Given the description of an element on the screen output the (x, y) to click on. 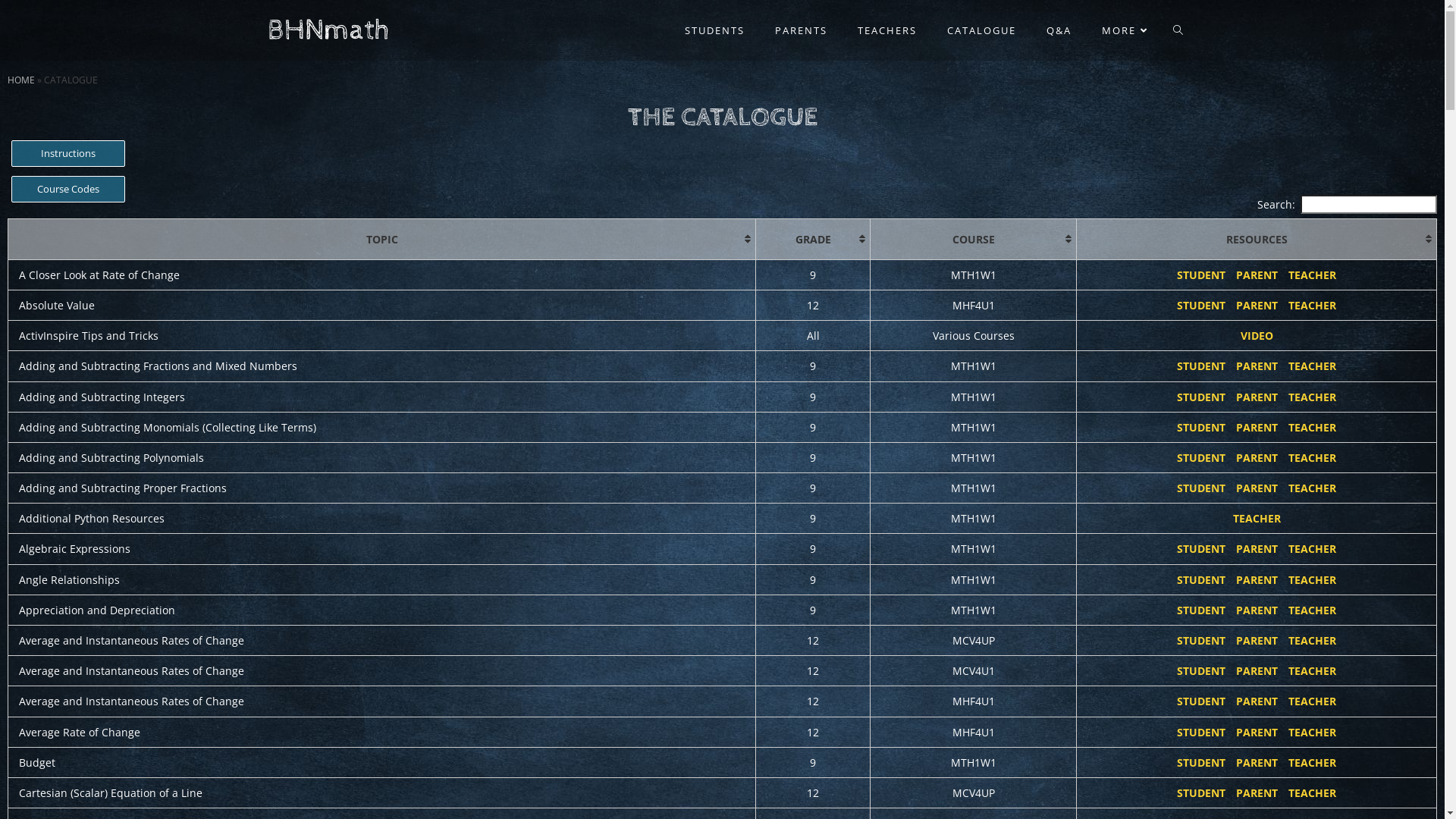
TEACHER Element type: text (1312, 396)
TEACHER Element type: text (1312, 792)
STUDENT Element type: text (1200, 640)
PARENT Element type: text (1256, 731)
PARENT Element type: text (1256, 487)
TEACHER Element type: text (1312, 365)
MORE Element type: text (1125, 30)
STUDENT Element type: text (1200, 365)
STUDENTS Element type: text (713, 30)
TEACHER Element type: text (1312, 640)
PARENT Element type: text (1256, 609)
STUDENT Element type: text (1200, 274)
STUDENT Element type: text (1200, 396)
PARENT Element type: text (1256, 640)
PARENT Element type: text (1256, 670)
TEACHER Element type: text (1312, 548)
TEACHER Element type: text (1312, 274)
STUDENT Element type: text (1200, 487)
PARENT Element type: text (1256, 700)
VIDEO Element type: text (1256, 335)
TEACHERS Element type: text (886, 30)
HOME Element type: text (20, 79)
TEACHER Element type: text (1312, 670)
STUDENT Element type: text (1200, 792)
TEACHER Element type: text (1312, 305)
PARENT Element type: text (1256, 762)
PARENT Element type: text (1256, 792)
PARENT Element type: text (1256, 548)
STUDENT Element type: text (1200, 305)
TEACHER Element type: text (1312, 579)
Q&A Element type: text (1058, 30)
TEACHER Element type: text (1312, 731)
PARENT Element type: text (1256, 305)
PARENT Element type: text (1256, 365)
STUDENT Element type: text (1200, 548)
TEACHER Element type: text (1312, 609)
STUDENT Element type: text (1200, 762)
STUDENT Element type: text (1200, 427)
TEACHER Element type: text (1312, 457)
STUDENT Element type: text (1200, 579)
Instructions Element type: text (68, 153)
BHNmath Element type: text (327, 30)
PARENT Element type: text (1256, 274)
PARENT Element type: text (1256, 427)
PARENTS Element type: text (800, 30)
STUDENT Element type: text (1200, 700)
PARENT Element type: text (1256, 579)
TEACHER Element type: text (1312, 427)
TEACHER Element type: text (1312, 762)
STUDENT Element type: text (1200, 609)
STUDENT Element type: text (1200, 457)
TEACHER Element type: text (1256, 518)
TEACHER Element type: text (1312, 487)
Course Codes Element type: text (68, 188)
STUDENT Element type: text (1200, 731)
STUDENT Element type: text (1200, 670)
TEACHER Element type: text (1312, 700)
PARENT Element type: text (1256, 396)
PARENT Element type: text (1256, 457)
CATALOGUE Element type: text (980, 30)
